Given the description of an element on the screen output the (x, y) to click on. 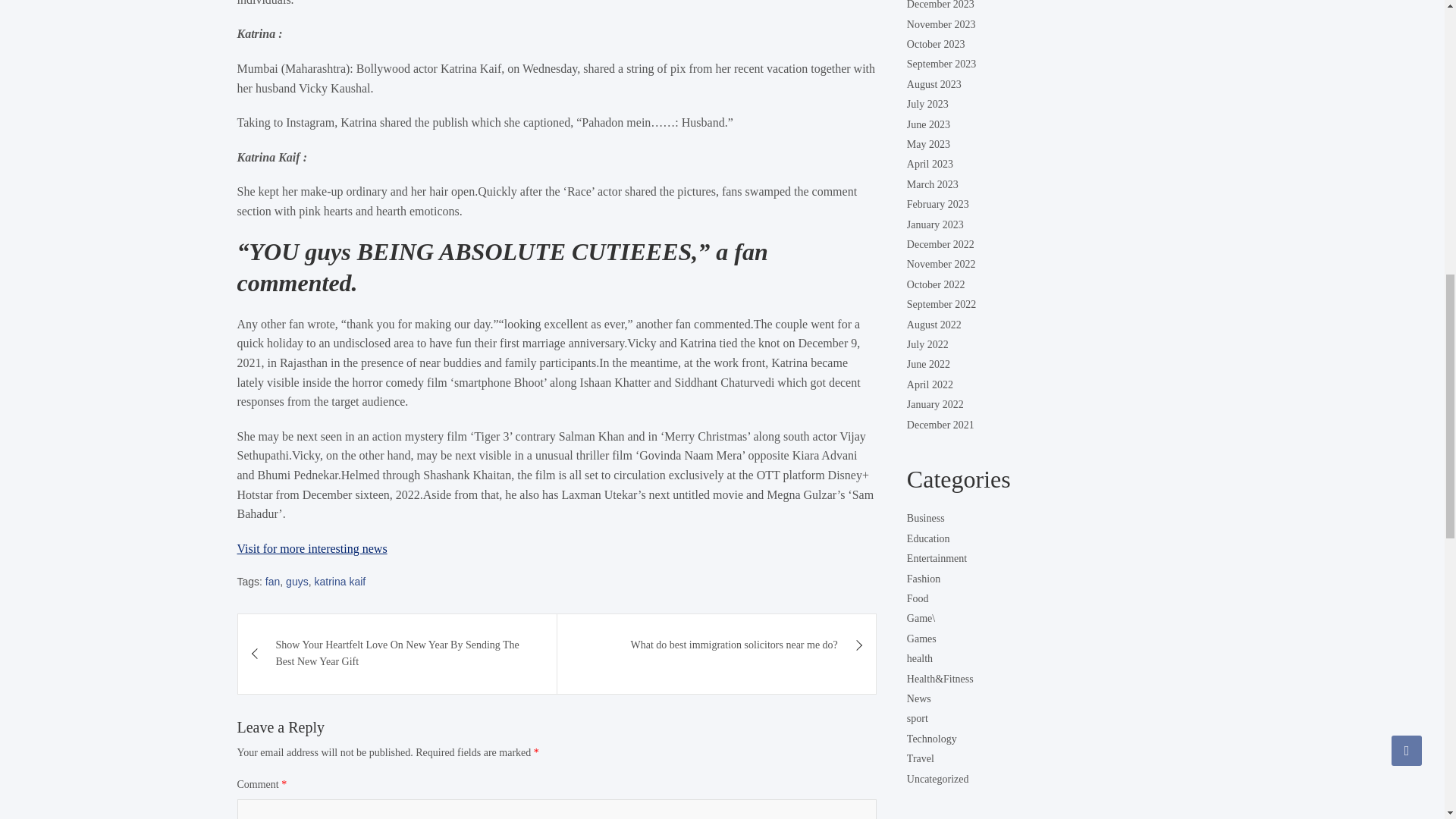
Visit for more interesting news (311, 548)
What do best immigration solicitors near me do? (716, 645)
katrina kaif (339, 581)
guys (296, 581)
